Given the description of an element on the screen output the (x, y) to click on. 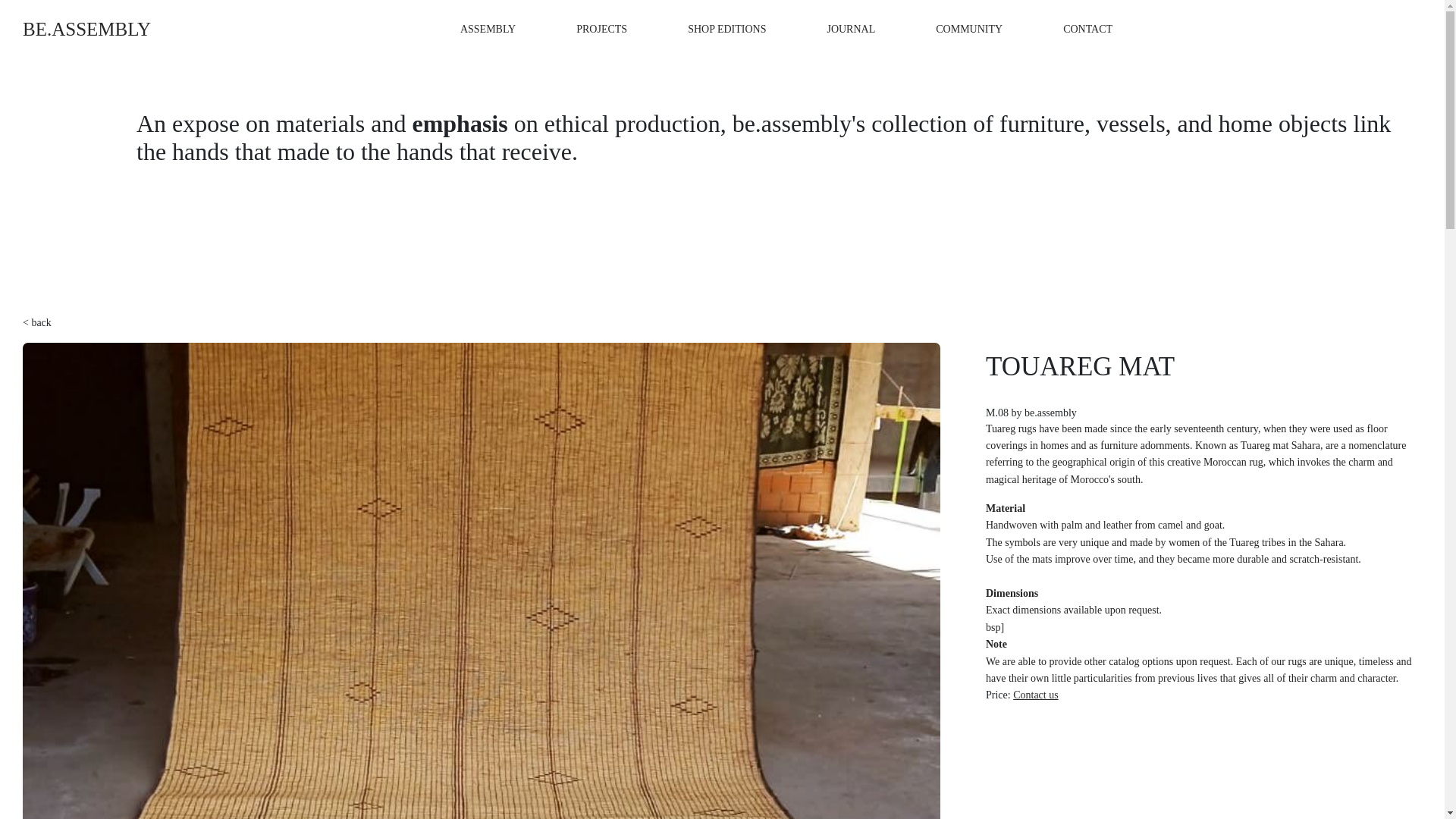
ASSEMBLY (487, 28)
JOURNAL (851, 28)
Projects (601, 28)
PROJECTS (601, 28)
BE.ASSEMBLY (87, 29)
Contact (1087, 28)
Assembly (487, 28)
COMMUNITY (969, 28)
Community (969, 28)
SHOP EDITIONS (726, 28)
